Given the description of an element on the screen output the (x, y) to click on. 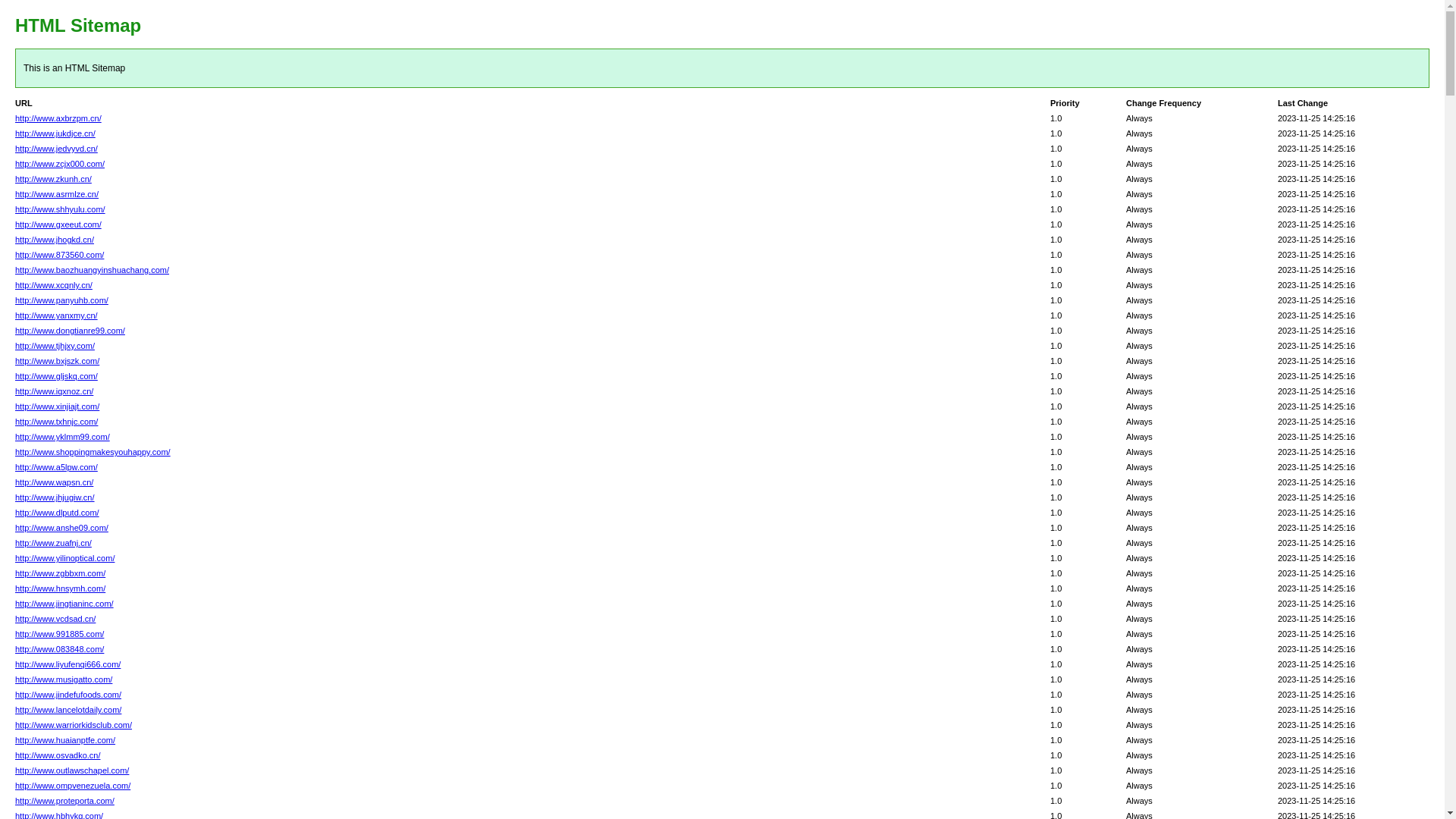
http://www.lancelotdaily.com/ Element type: text (68, 709)
http://www.gljskq.com/ Element type: text (56, 375)
http://www.baozhuangyinshuachang.com/ Element type: text (92, 269)
http://www.jingtianinc.com/ Element type: text (64, 603)
http://www.yanxmy.cn/ Element type: text (56, 315)
http://www.warriorkidsclub.com/ Element type: text (73, 724)
http://www.dlputd.com/ Element type: text (57, 512)
http://www.wapsn.cn/ Element type: text (54, 481)
http://www.panyuhb.com/ Element type: text (61, 299)
http://www.jedvyvd.cn/ Element type: text (56, 148)
http://www.zkunh.cn/ Element type: text (53, 178)
http://www.yilinoptical.com/ Element type: text (64, 557)
http://www.jhjugiw.cn/ Element type: text (54, 497)
http://www.vcdsad.cn/ Element type: text (55, 618)
http://www.proteporta.com/ Element type: text (64, 800)
http://www.xcqnly.cn/ Element type: text (53, 284)
http://www.991885.com/ Element type: text (59, 633)
http://www.jindefufoods.com/ Element type: text (68, 694)
http://www.873560.com/ Element type: text (59, 254)
http://www.asrmlze.cn/ Element type: text (56, 193)
http://www.083848.com/ Element type: text (59, 648)
http://www.ompvenezuela.com/ Element type: text (72, 785)
http://www.liyufenqi666.com/ Element type: text (67, 663)
http://www.jukdjce.cn/ Element type: text (55, 133)
http://www.gxeeut.com/ Element type: text (58, 224)
http://www.yklmm99.com/ Element type: text (62, 436)
http://www.zcjx000.com/ Element type: text (59, 163)
http://www.musigatto.com/ Element type: text (63, 679)
http://www.dongtianre99.com/ Element type: text (70, 330)
http://www.xinjiajt.com/ Element type: text (57, 406)
http://www.osvadko.cn/ Element type: text (57, 754)
http://www.outlawschapel.com/ Element type: text (71, 770)
http://www.bxjszk.com/ Element type: text (57, 360)
http://www.iqxnoz.cn/ Element type: text (54, 390)
http://www.huaianptfe.com/ Element type: text (65, 739)
http://www.shoppingmakesyouhappy.com/ Element type: text (92, 451)
http://www.zuafnj.cn/ Element type: text (53, 542)
http://www.shhyulu.com/ Element type: text (60, 208)
http://www.txhnjc.com/ Element type: text (56, 421)
http://www.hnsymh.com/ Element type: text (60, 588)
http://www.axbrzpm.cn/ Element type: text (58, 117)
http://www.anshe09.com/ Element type: text (61, 527)
http://www.zgbbxm.com/ Element type: text (60, 572)
http://www.a5lpw.com/ Element type: text (56, 466)
http://www.jhogkd.cn/ Element type: text (54, 239)
http://www.tjhjxy.com/ Element type: text (54, 345)
